Given the description of an element on the screen output the (x, y) to click on. 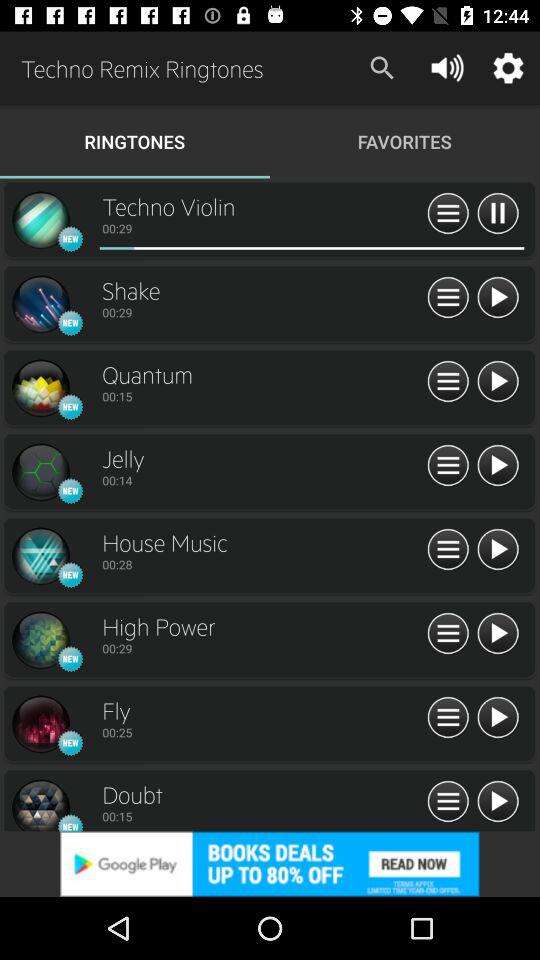
open additional settings/options (447, 213)
